Given the description of an element on the screen output the (x, y) to click on. 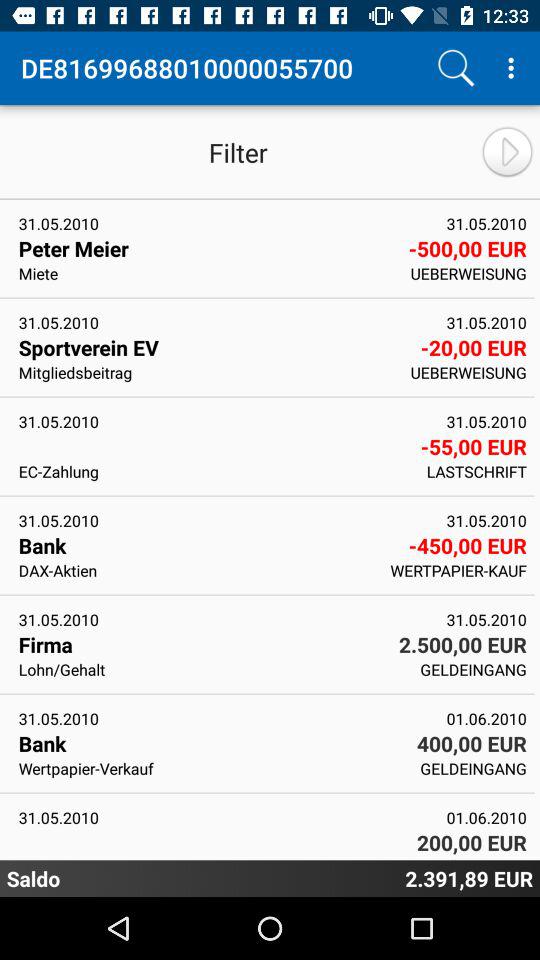
swipe until sportverein ev item (212, 347)
